Given the description of an element on the screen output the (x, y) to click on. 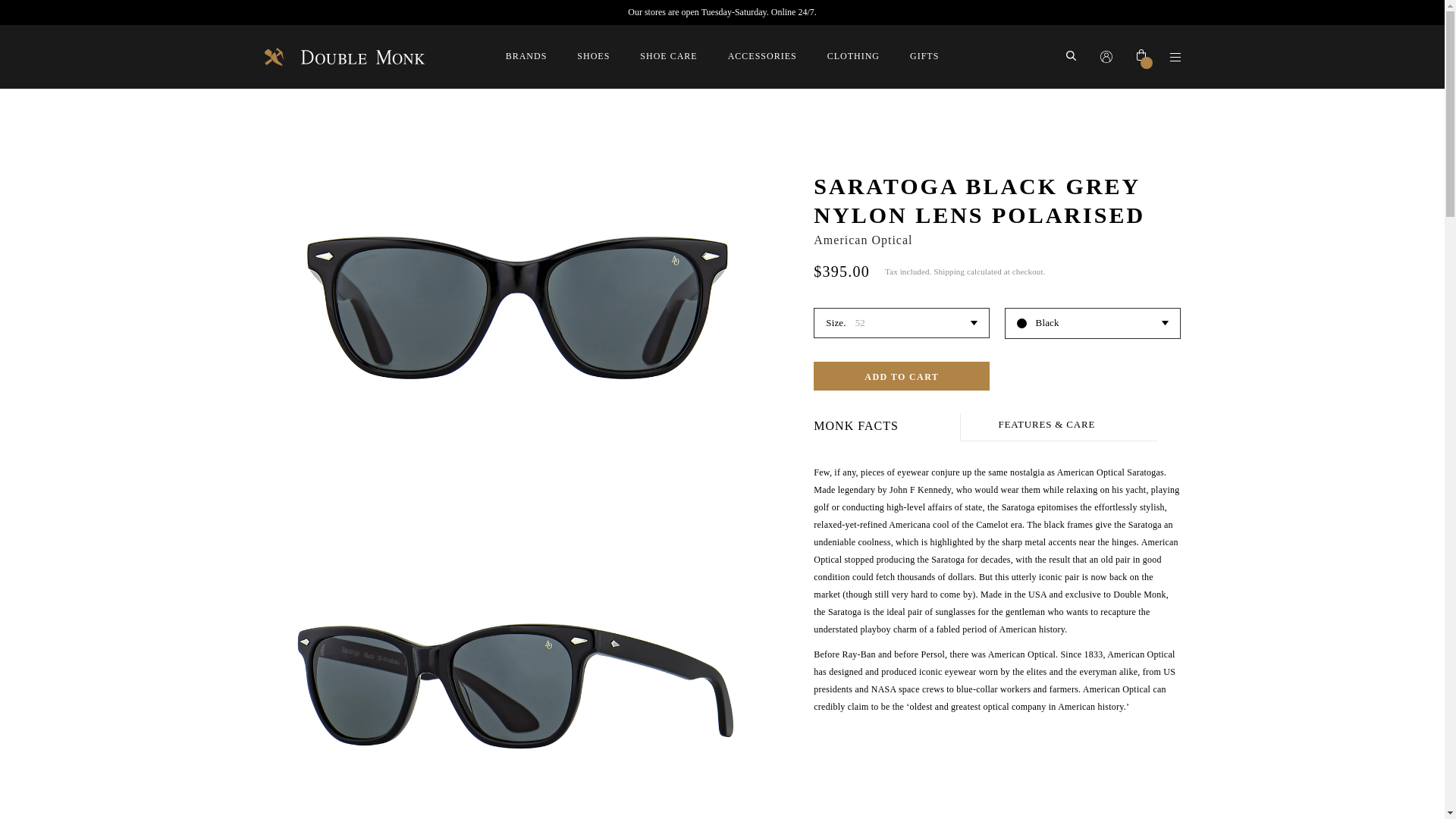
BRANDS (526, 55)
SHOE CARE (668, 55)
GIFTS (924, 55)
American Optical (862, 239)
SHOES (593, 55)
CLOTHING (853, 55)
ACCESSORIES (762, 55)
